Given the description of an element on the screen output the (x, y) to click on. 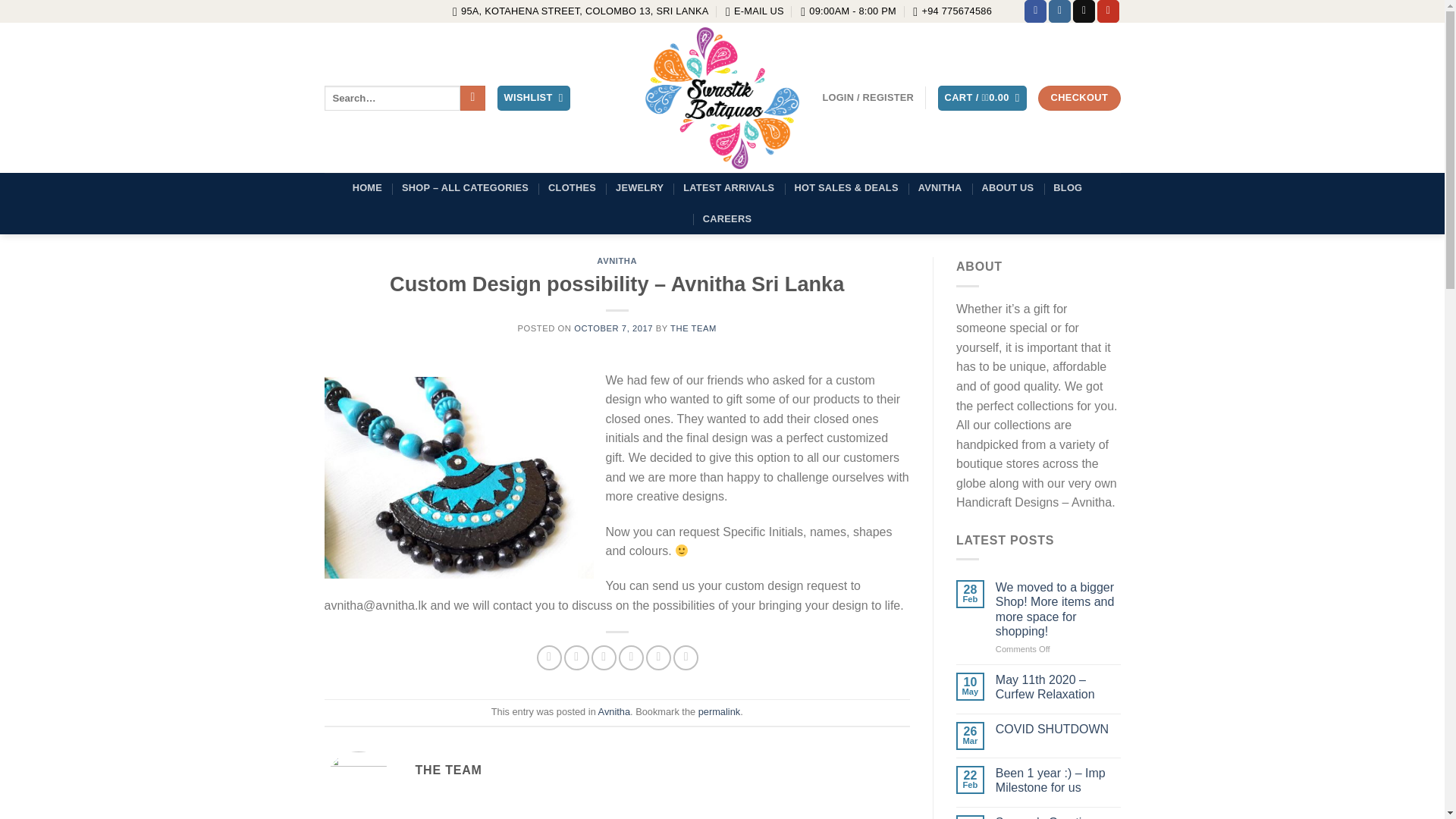
OCTOBER 7, 2017 (612, 327)
Follow on YouTube (1108, 11)
Follow on TikTok (1083, 11)
95A, Kotahena Street, Colombo 13, Sri Lanka (580, 11)
E-MAIL US (754, 11)
BLOG (1066, 187)
AVNITHA (940, 187)
ABOUT US (1007, 187)
Follow on Facebook (1035, 11)
THE TEAM (692, 327)
95A, KOTAHENA STREET, COLOMBO 13, SRI LANKA (580, 11)
09:00AM - 8:00 PM (848, 11)
HOME (366, 187)
LATEST ARRIVALS (728, 187)
AVNITHA (616, 260)
